Given the description of an element on the screen output the (x, y) to click on. 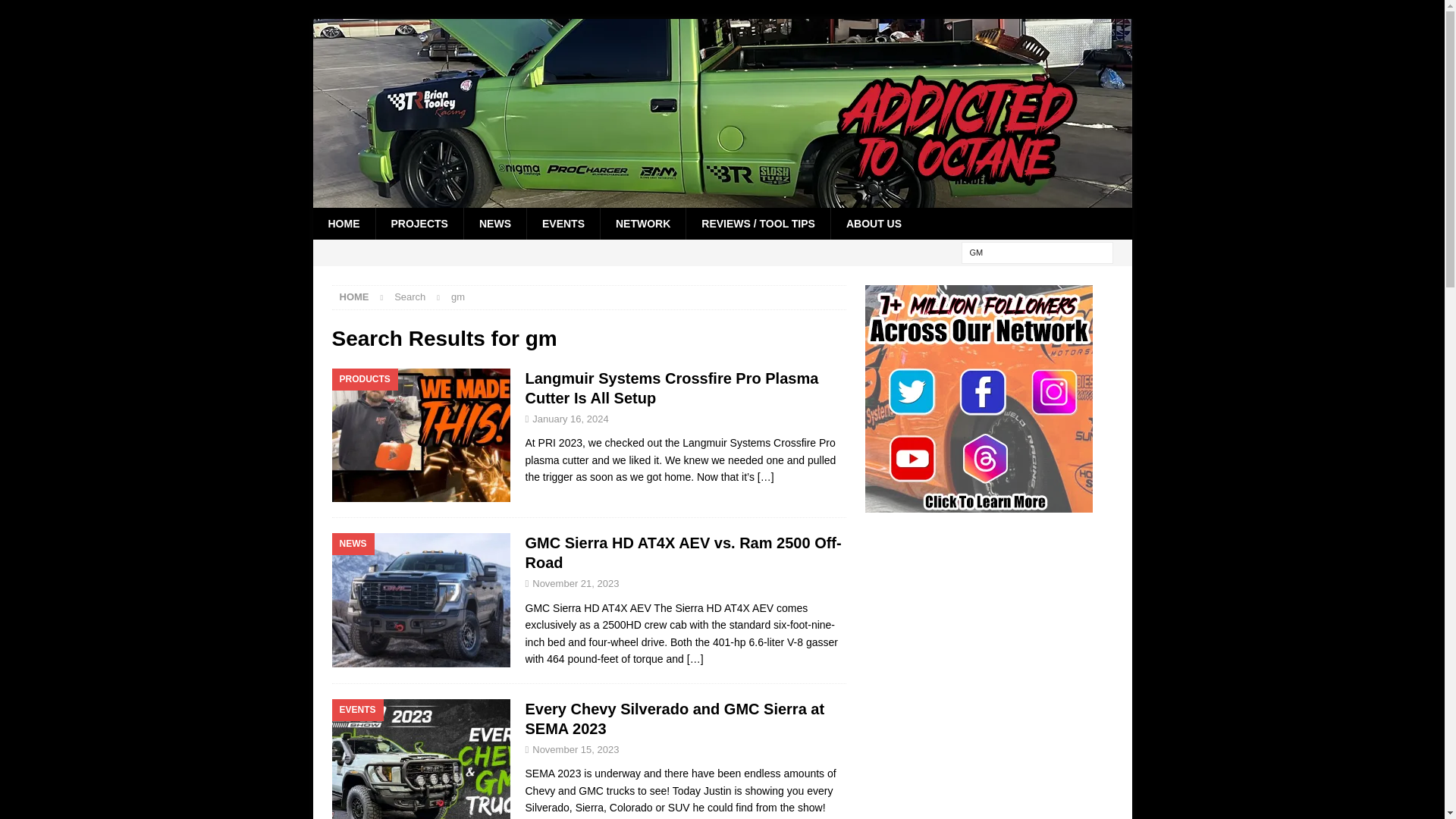
GMC Sierra HD AT4X AEV vs. Ram 2500 Off-Road (695, 658)
Home (354, 296)
Langmuir Systems Crossfire Pro Plasma Cutter Is All Setup (671, 388)
News (421, 600)
EVENTS (562, 223)
Langmuir Systems Crossfire Pro Plasma Cutter Is All Setup (671, 388)
Langmuir Systems Crossfire Pro Plasma Cutter Is All Setup (765, 476)
NEWS (494, 223)
Events (421, 759)
HOME (343, 223)
